Given the description of an element on the screen output the (x, y) to click on. 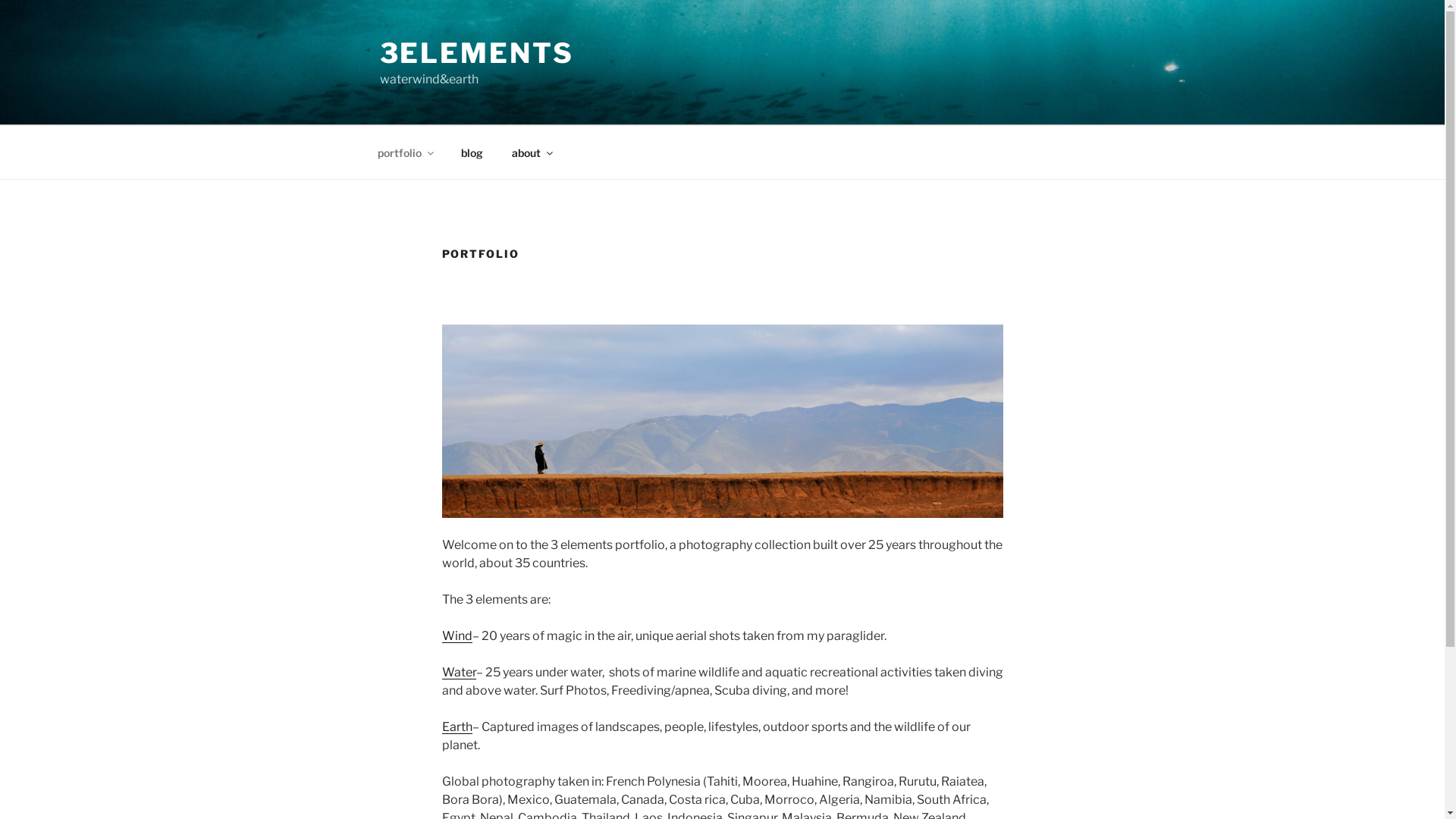
blog Element type: text (471, 151)
about Element type: text (531, 151)
3ELEMENTS Element type: text (476, 52)
portfolio Element type: text (404, 151)
Water Element type: text (458, 672)
Earth Element type: text (456, 726)
Wind Element type: text (456, 635)
